Given the description of an element on the screen output the (x, y) to click on. 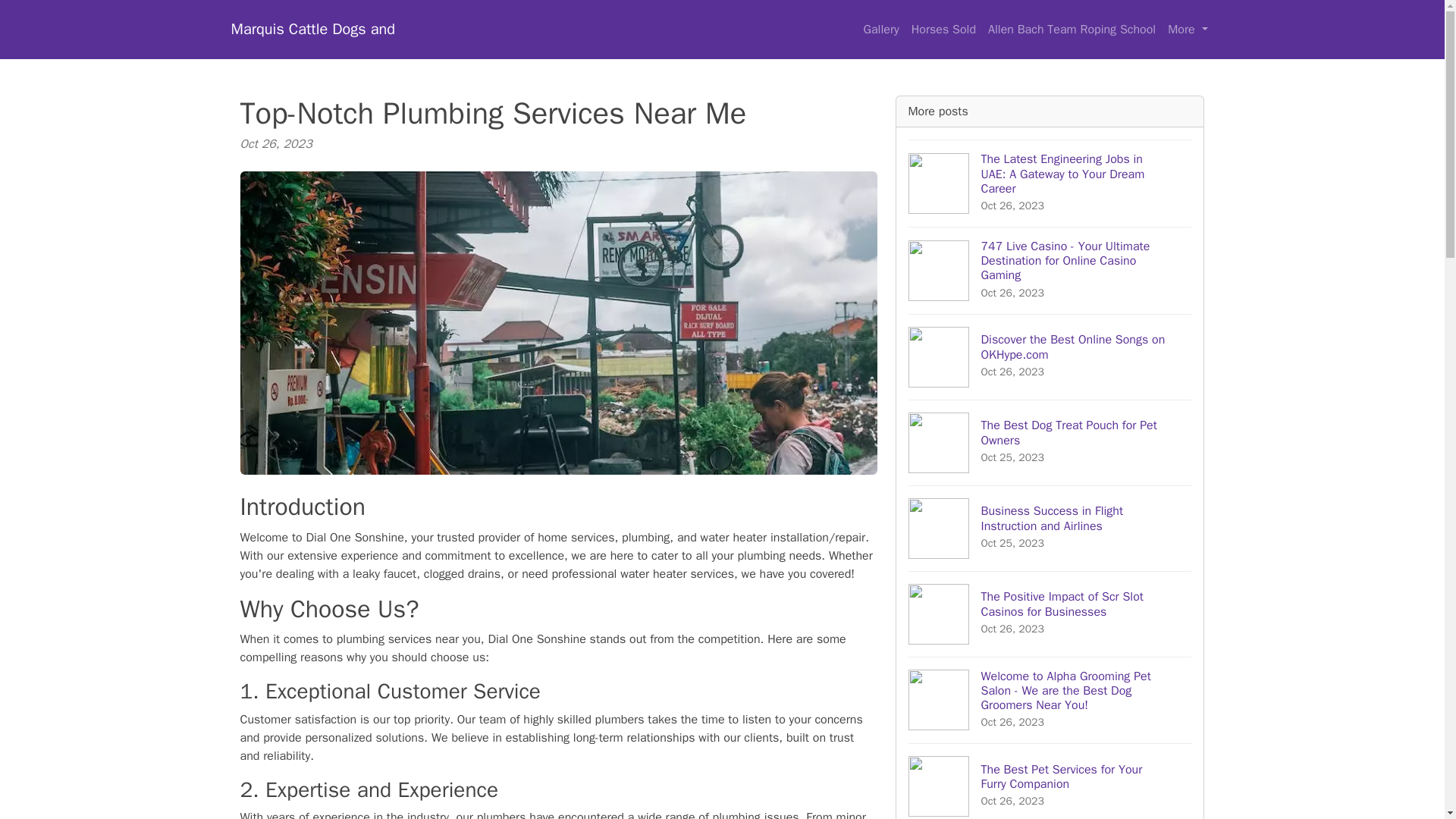
Horses Sold (943, 29)
Allen Bach Team Roping School (1050, 356)
Gallery (1050, 441)
